Given the description of an element on the screen output the (x, y) to click on. 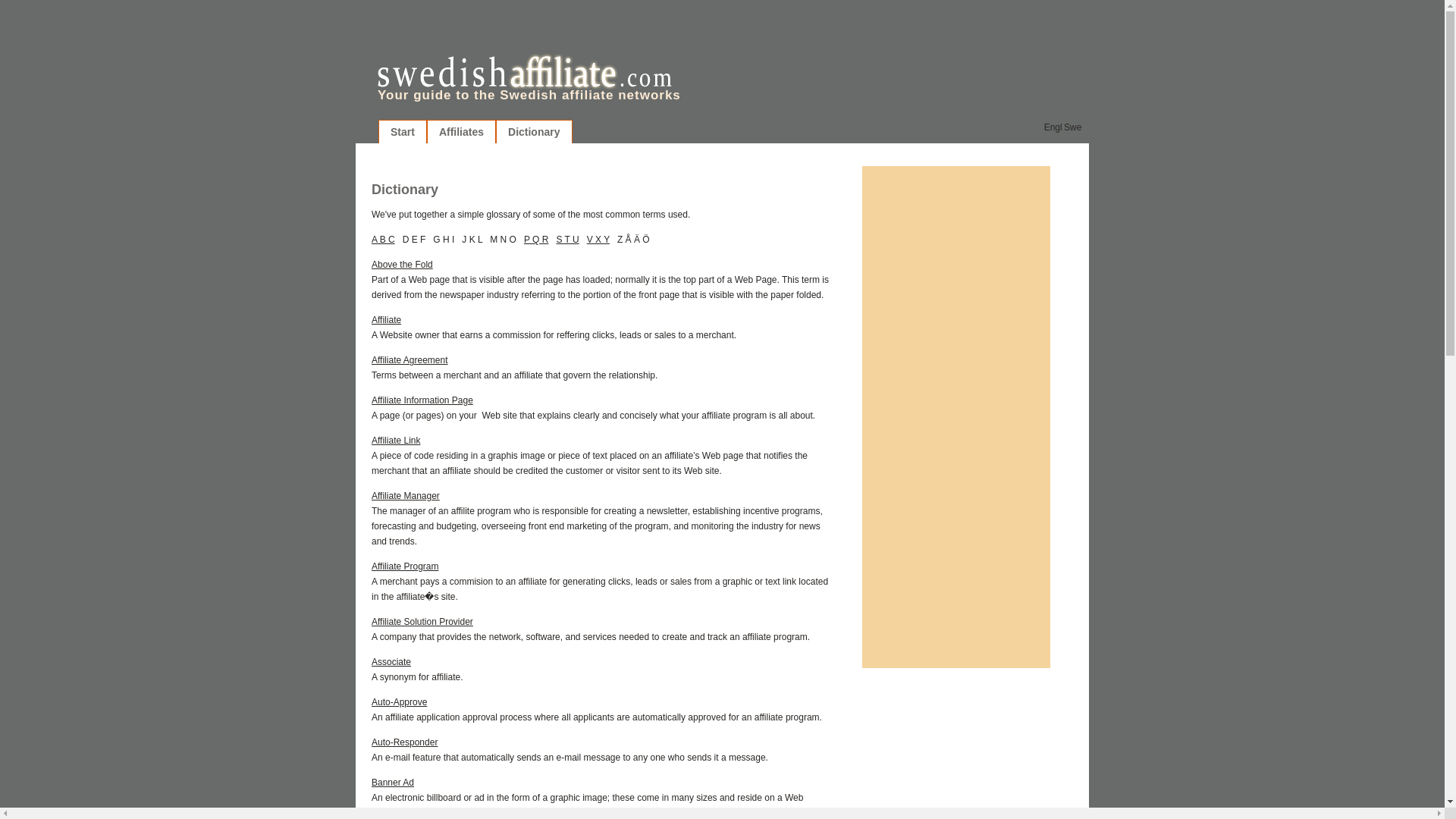
P Q R (536, 239)
Dictionary (533, 132)
A B C (382, 239)
Affiliates (461, 132)
Start (402, 132)
S T U (567, 239)
V X Y (598, 239)
